Given the description of an element on the screen output the (x, y) to click on. 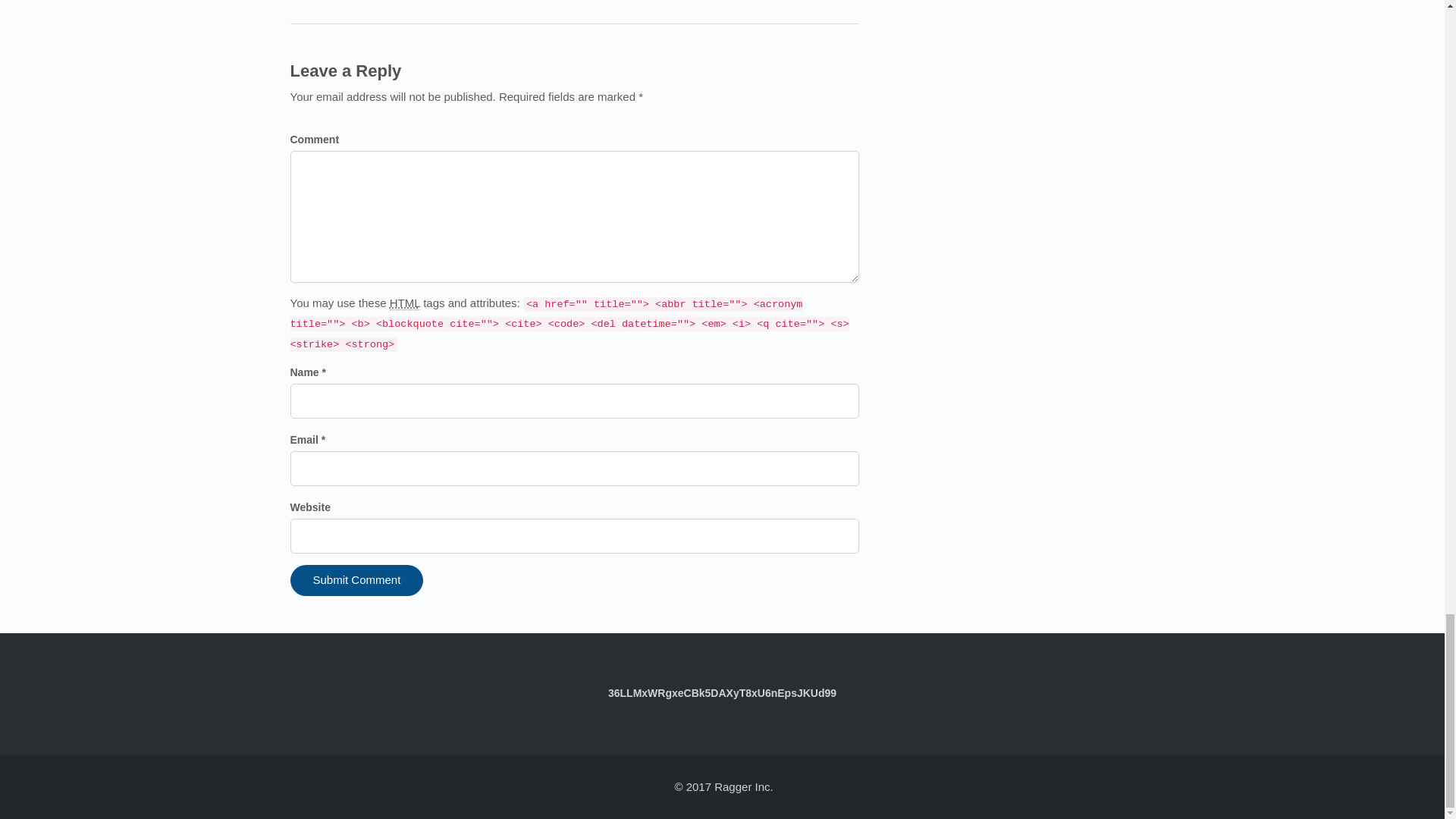
Submit Comment (356, 580)
HyperText Markup Language (405, 303)
Submit Comment (356, 580)
